Given the description of an element on the screen output the (x, y) to click on. 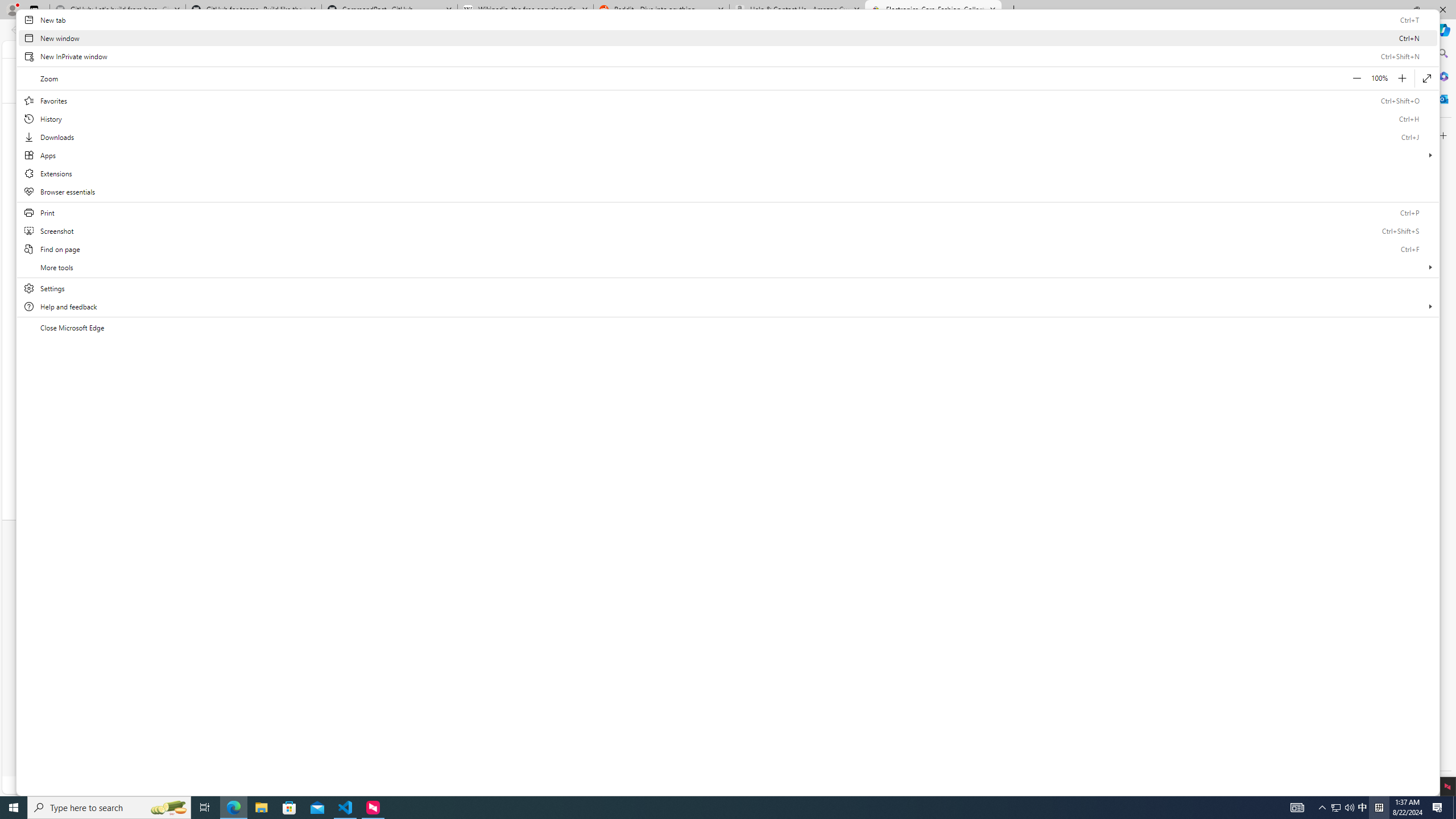
Customize (1442, 135)
Developers (557, 638)
MotorsExpand: Motors (540, 112)
Verified Rights Owner (VeRO) Program (858, 669)
Select a category for search (878, 78)
Policies (858, 655)
Enter full screen (F11) (1426, 78)
Apps (727, 154)
AutomationID: gh-eb-Alerts (1027, 49)
Refurbished (715, 433)
Sell (512, 559)
